Given the description of an element on the screen output the (x, y) to click on. 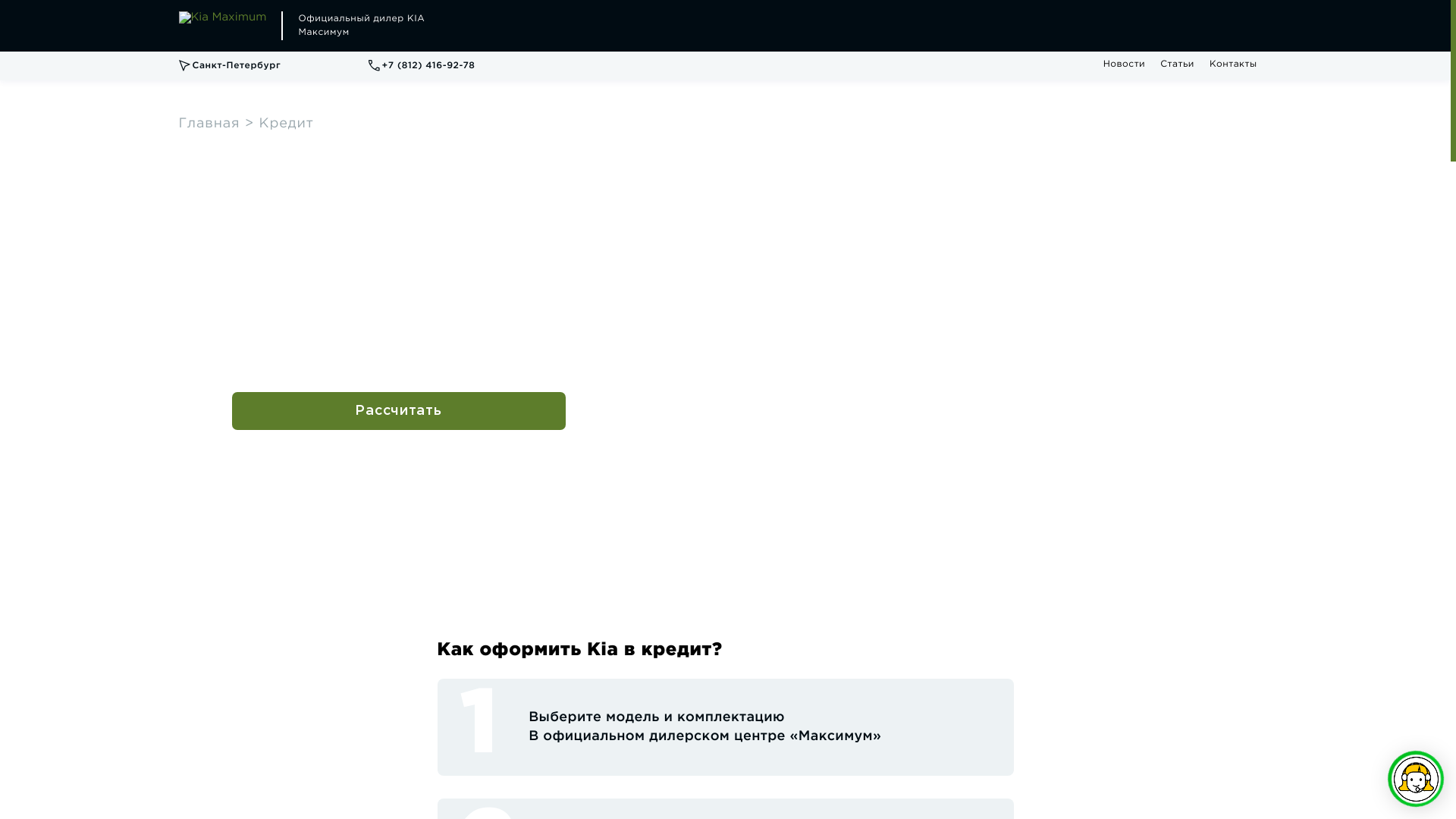
+7 (812) 612-04-47 Element type: text (463, 65)
